Given the description of an element on the screen output the (x, y) to click on. 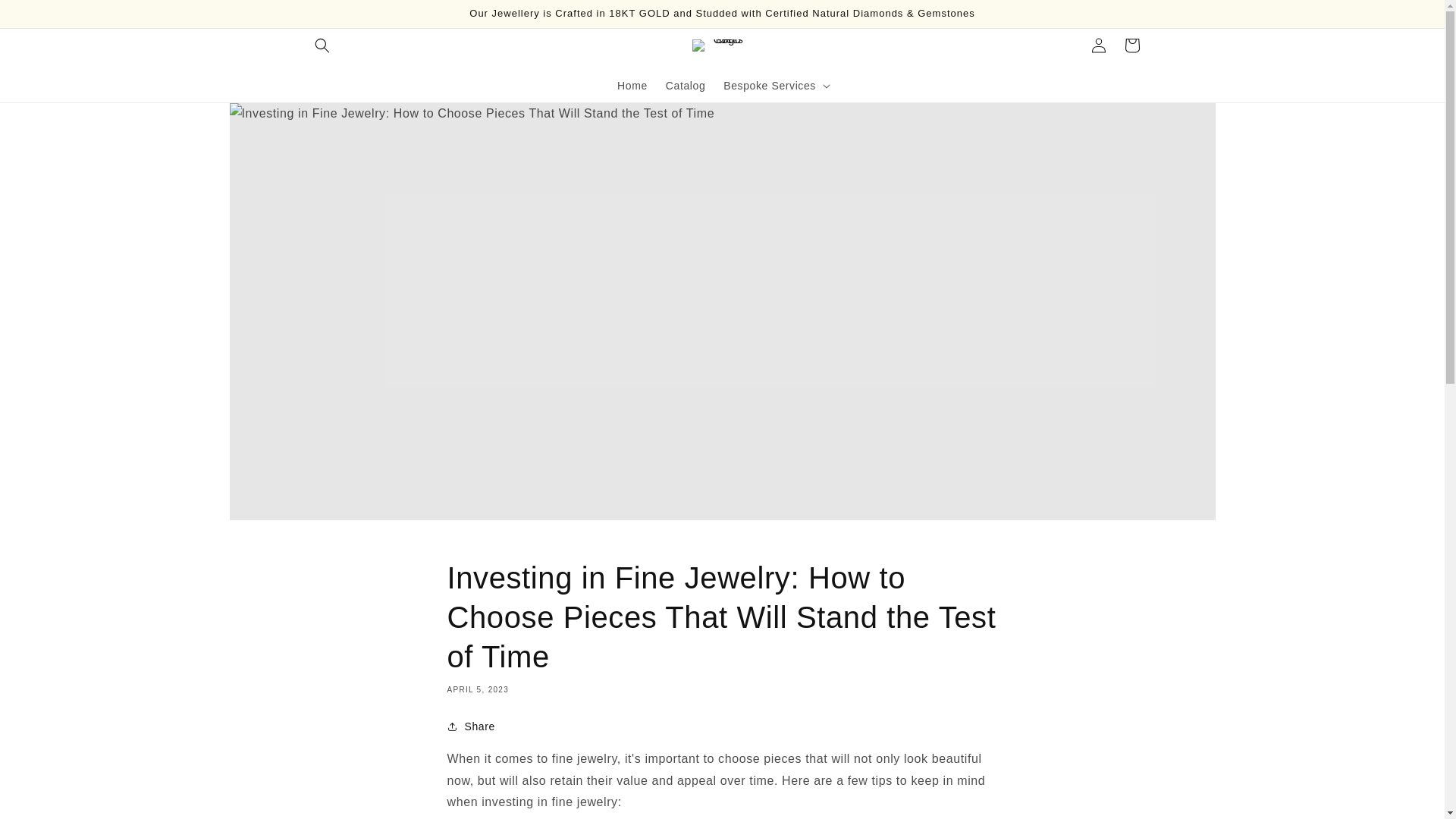
Home (632, 85)
Log in (1098, 45)
Cart (1131, 45)
Skip to content (45, 17)
Catalog (685, 85)
